Given the description of an element on the screen output the (x, y) to click on. 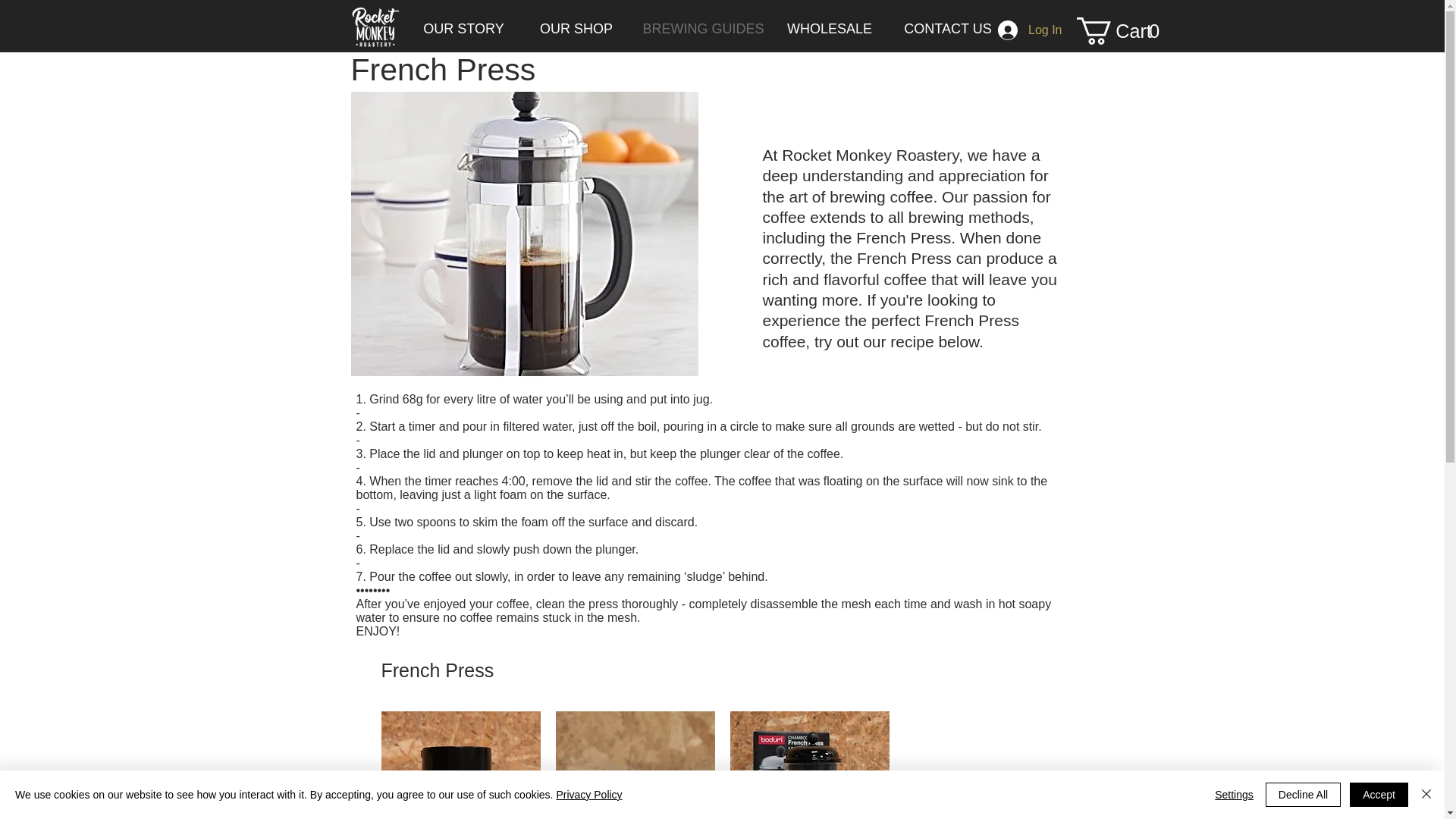
OUR SHOP (576, 28)
WHOLESALE (829, 28)
CONTACT US (946, 28)
OUR STORY (1123, 31)
Log In (463, 28)
BREWING GUIDES (1029, 30)
